Given the description of an element on the screen output the (x, y) to click on. 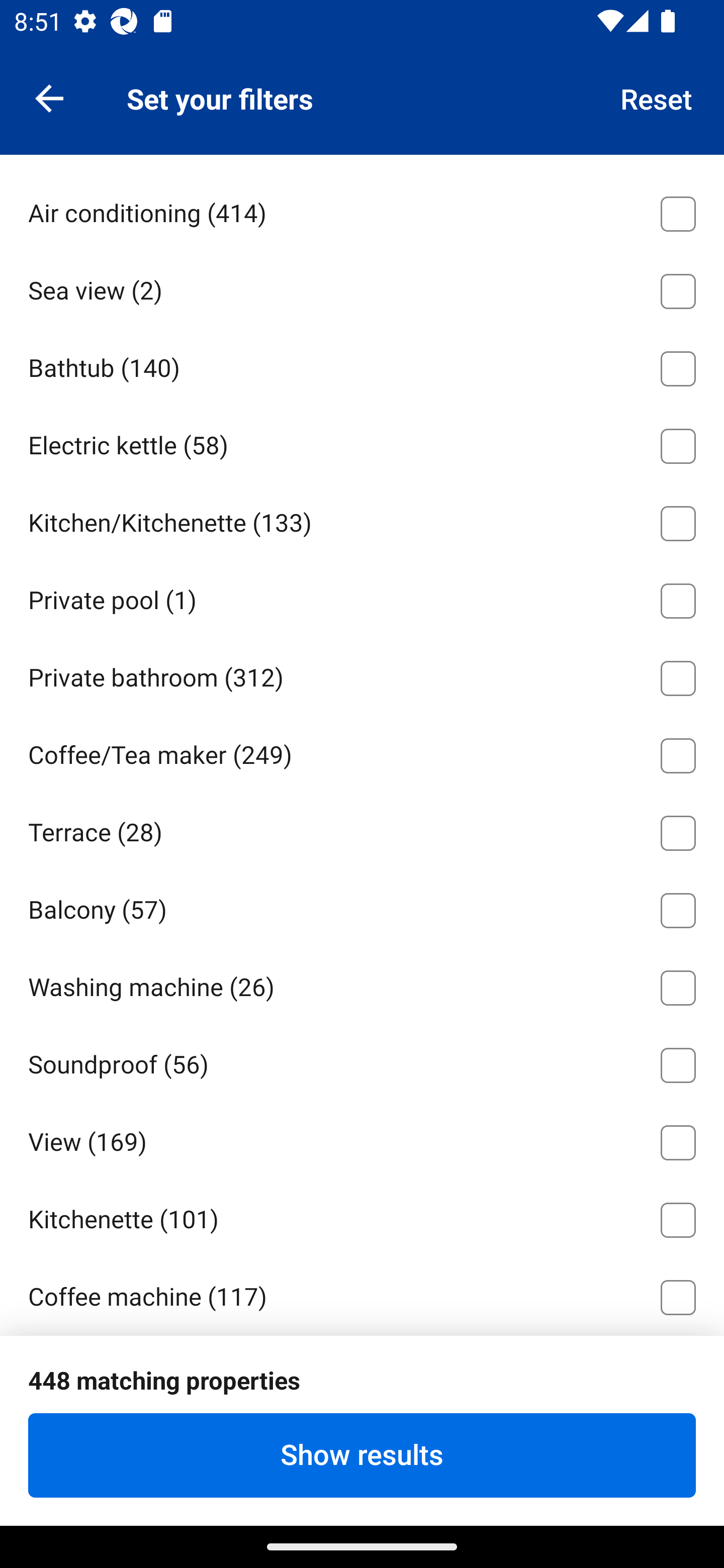
Navigate up (49, 97)
Reset (656, 97)
Air conditioning ⁦(414) (361, 210)
Sea view ⁦(2) (361, 287)
Bathtub ⁦(140) (361, 365)
Electric kettle ⁦(58) (361, 442)
Kitchen/Kitchenette ⁦(133) (361, 519)
Private pool ⁦(1) (361, 597)
Private bathroom ⁦(312) (361, 674)
Coffee/Tea maker ⁦(249) (361, 751)
Terrace ⁦(28) (361, 829)
Balcony ⁦(57) (361, 906)
Washing machine ⁦(26) (361, 984)
Soundproof ⁦(56) (361, 1061)
View ⁦(169) (361, 1138)
Kitchenette ⁦(101) (361, 1216)
Coffee machine ⁦(117) (361, 1293)
Patio ⁦(12) (361, 1451)
Show results (361, 1454)
